Given the description of an element on the screen output the (x, y) to click on. 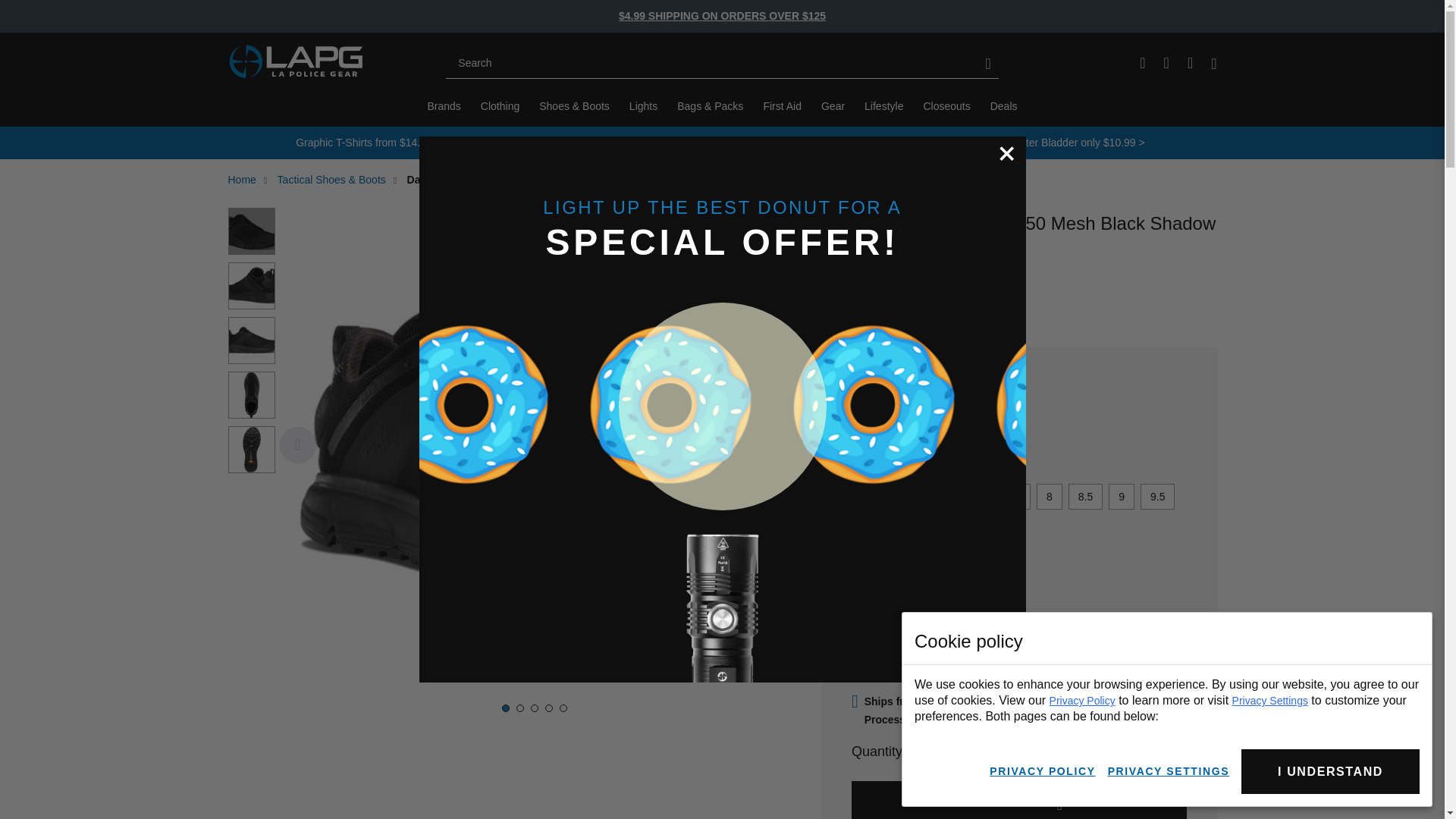
1 (961, 751)
Close Closes Web Dialog (1006, 153)
Add to Cart  (1018, 800)
Contact Us (884, 290)
172953 (1142, 62)
172959 (1166, 62)
Cart with 0 items (444, 106)
172954 (1213, 64)
